Given the description of an element on the screen output the (x, y) to click on. 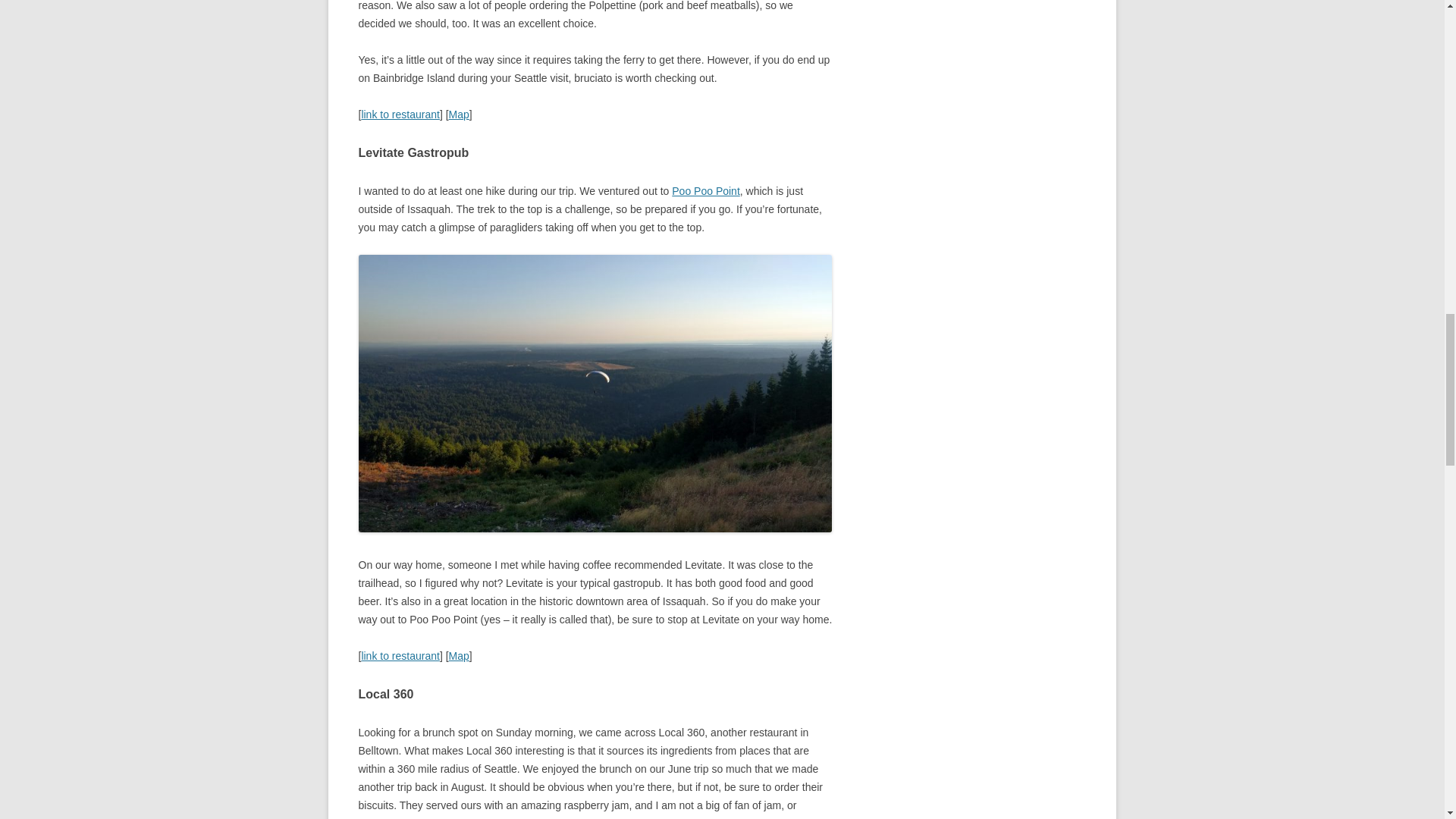
Map (458, 655)
link to restaurant (400, 114)
link to restaurant (400, 655)
Poo Poo Point (705, 191)
Map (458, 114)
